Given the description of an element on the screen output the (x, y) to click on. 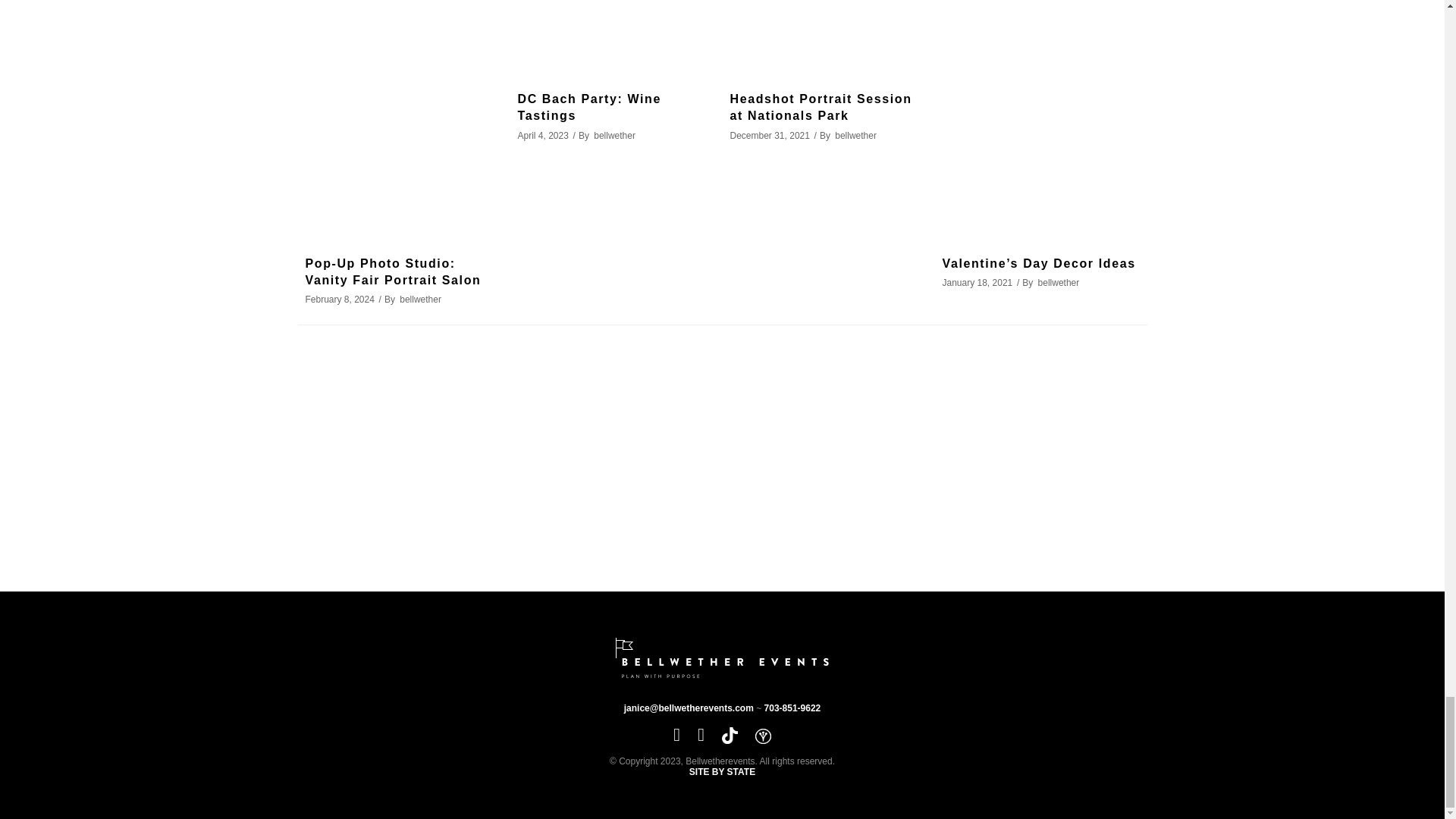
DC Bach Party: Wine Tastings (615, 36)
Wedding Wire (763, 735)
Pinterest (700, 734)
Headshot Portrait Session at Nationals Park (827, 36)
Headshot Portrait Session at Nationals Park (820, 107)
Instagram (675, 734)
Pop-Up Photo Studio: Vanity Fair Portrait Salon (403, 119)
Tiktok (730, 734)
Pop-Up Photo Studio: Vanity Fair Portrait Salon (392, 271)
DC Bach Party: Wine Tastings (588, 107)
